Given the description of an element on the screen output the (x, y) to click on. 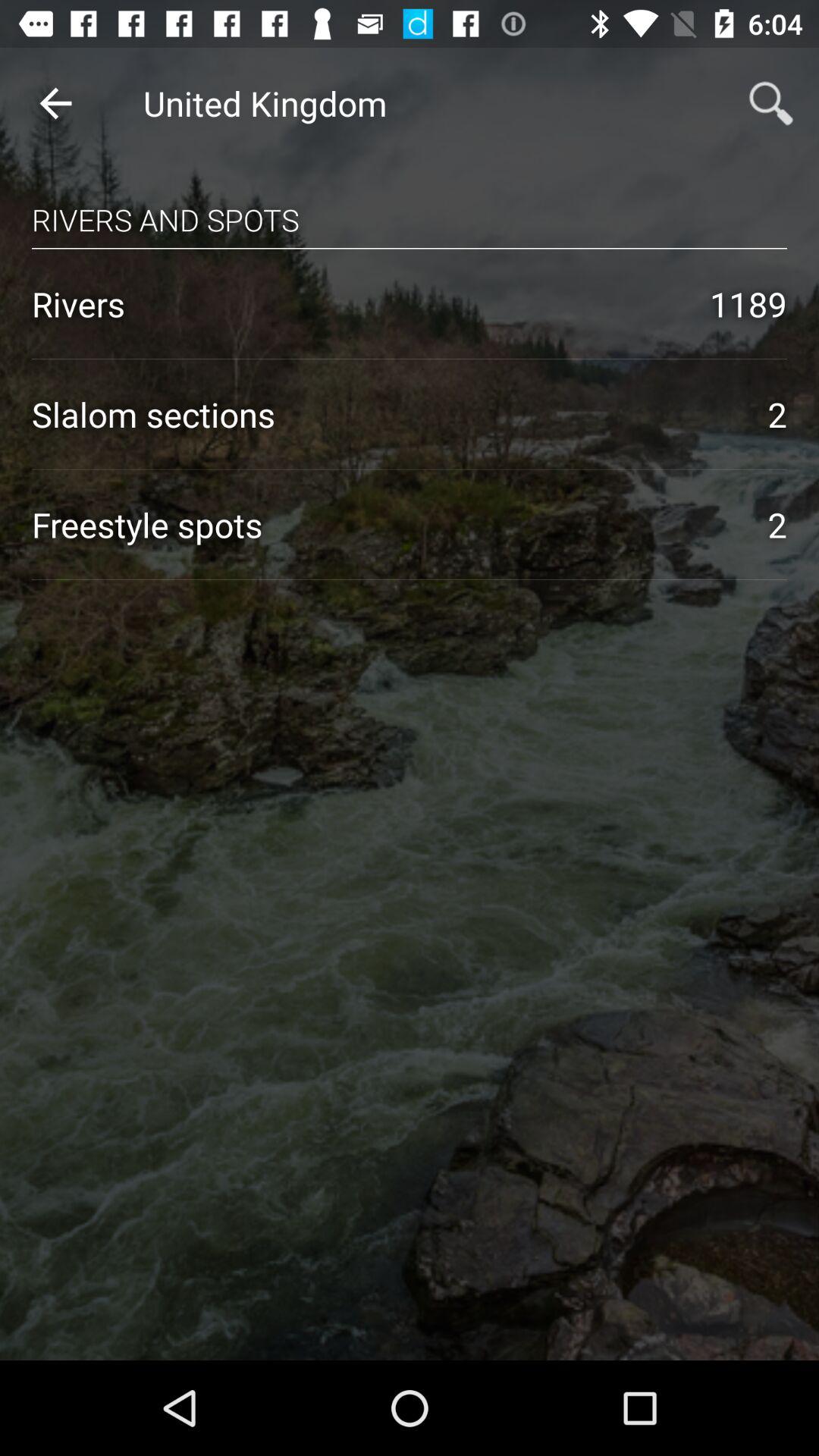
swipe to the freestyle spots (383, 524)
